Given the description of an element on the screen output the (x, y) to click on. 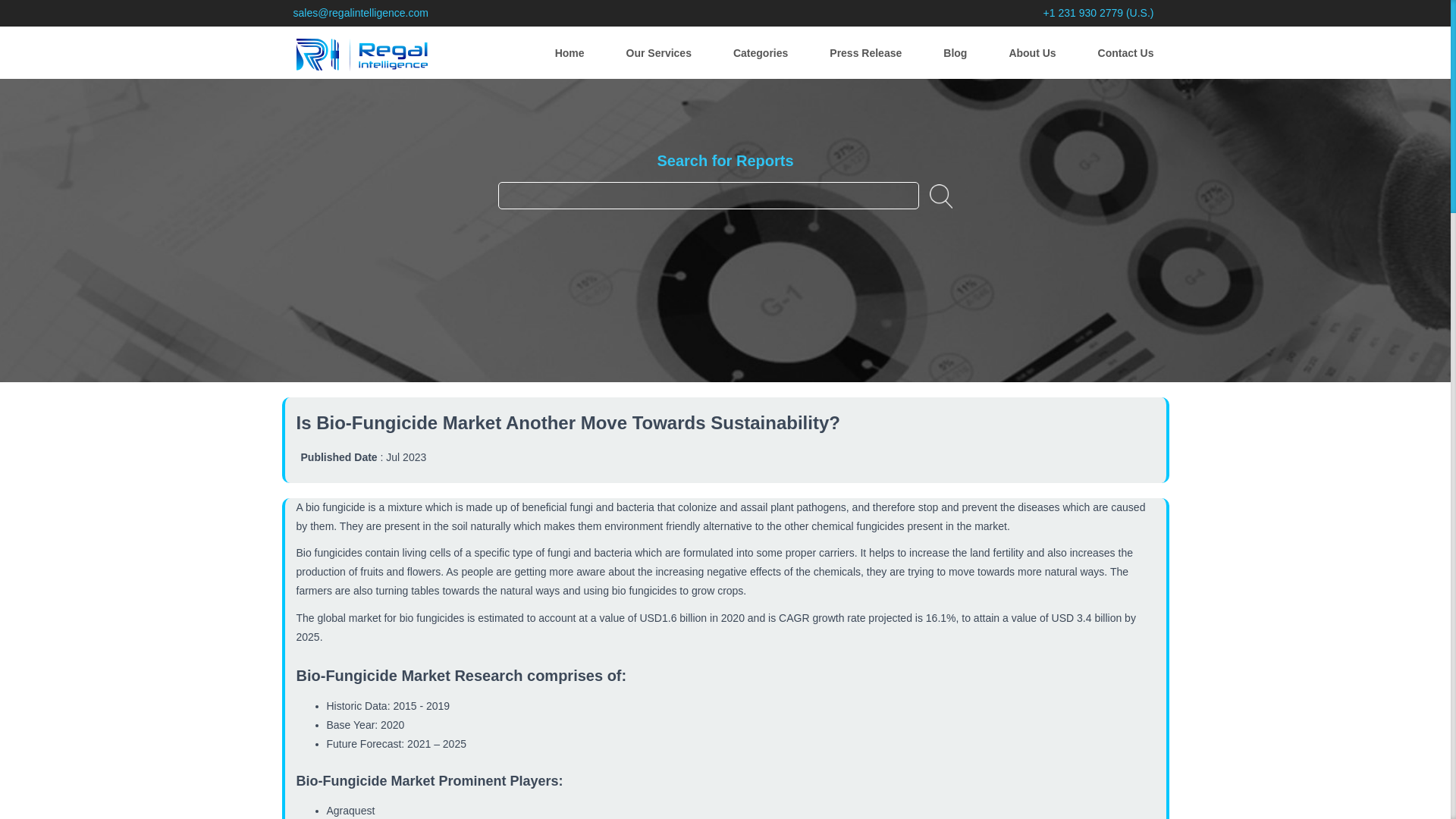
Contact Us (1125, 47)
About Us (1032, 47)
Press Release (865, 47)
Our Services (658, 47)
Categories (760, 47)
Home (569, 47)
